Given the description of an element on the screen output the (x, y) to click on. 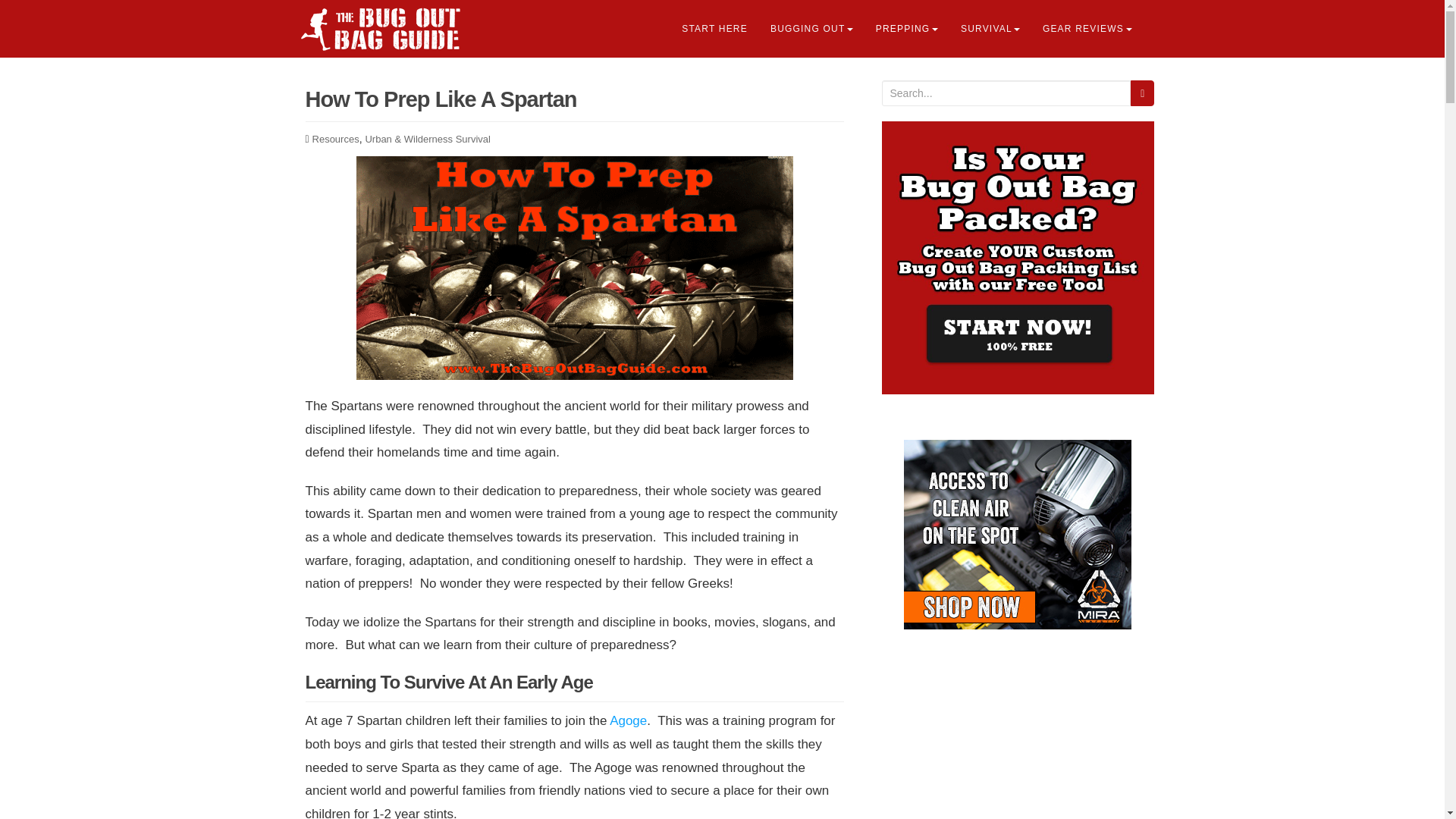
Bugging Out (811, 28)
PREPPING (906, 28)
START HERE (713, 28)
SURVIVAL (989, 28)
GEAR REVIEWS (1086, 28)
START HERE (713, 28)
BUGGING OUT (811, 28)
